Given the description of an element on the screen output the (x, y) to click on. 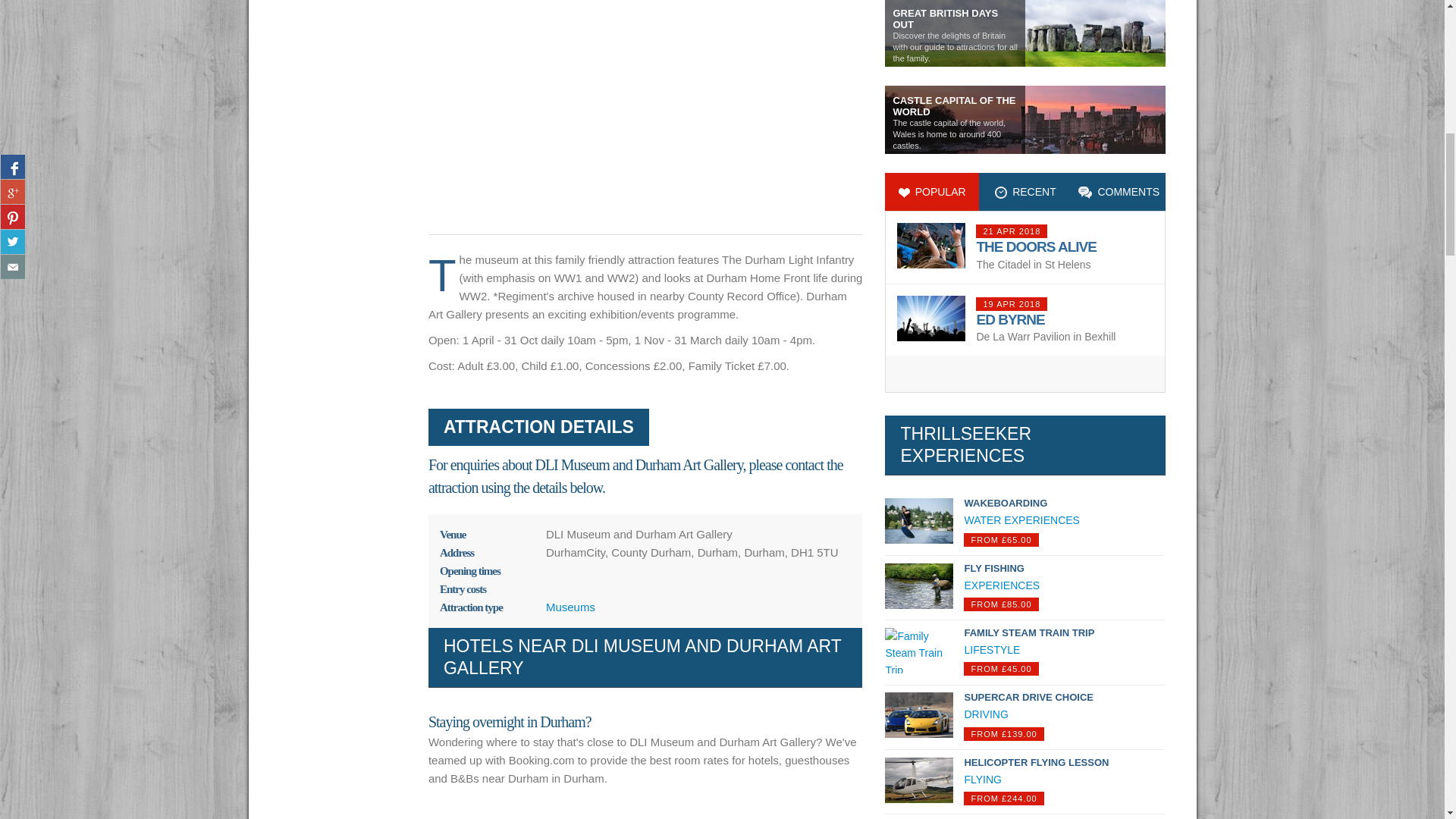
Advertisement (645, 107)
